Given the description of an element on the screen output the (x, y) to click on. 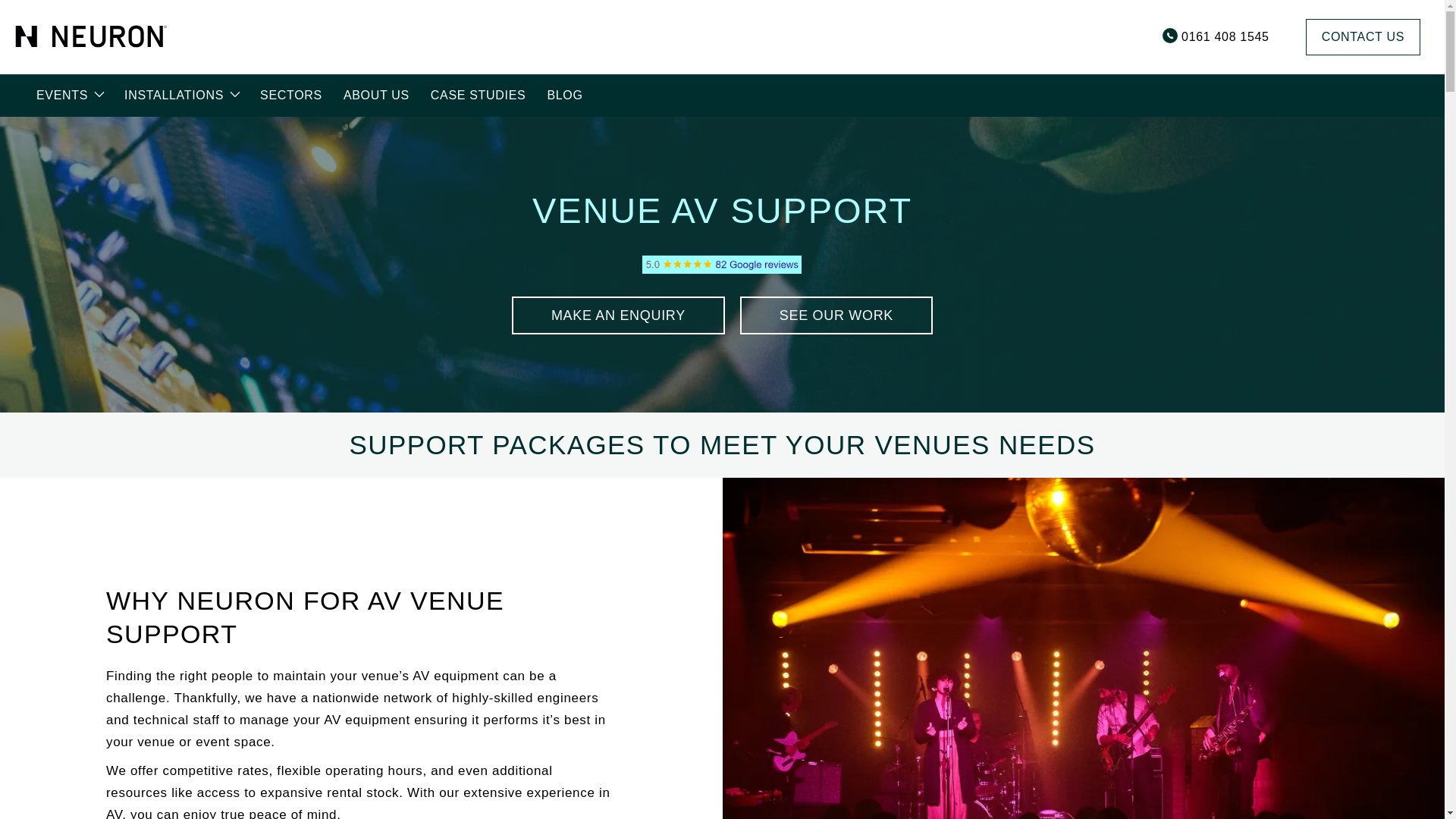
Installations (180, 95)
Events (69, 95)
CASE STUDIES (477, 95)
INSTALLATIONS (180, 95)
ABOUT US (376, 95)
0161 408 1545 (1215, 37)
EVENTS (69, 95)
CONTACT US (1363, 36)
SECTORS (290, 95)
